Given the description of an element on the screen output the (x, y) to click on. 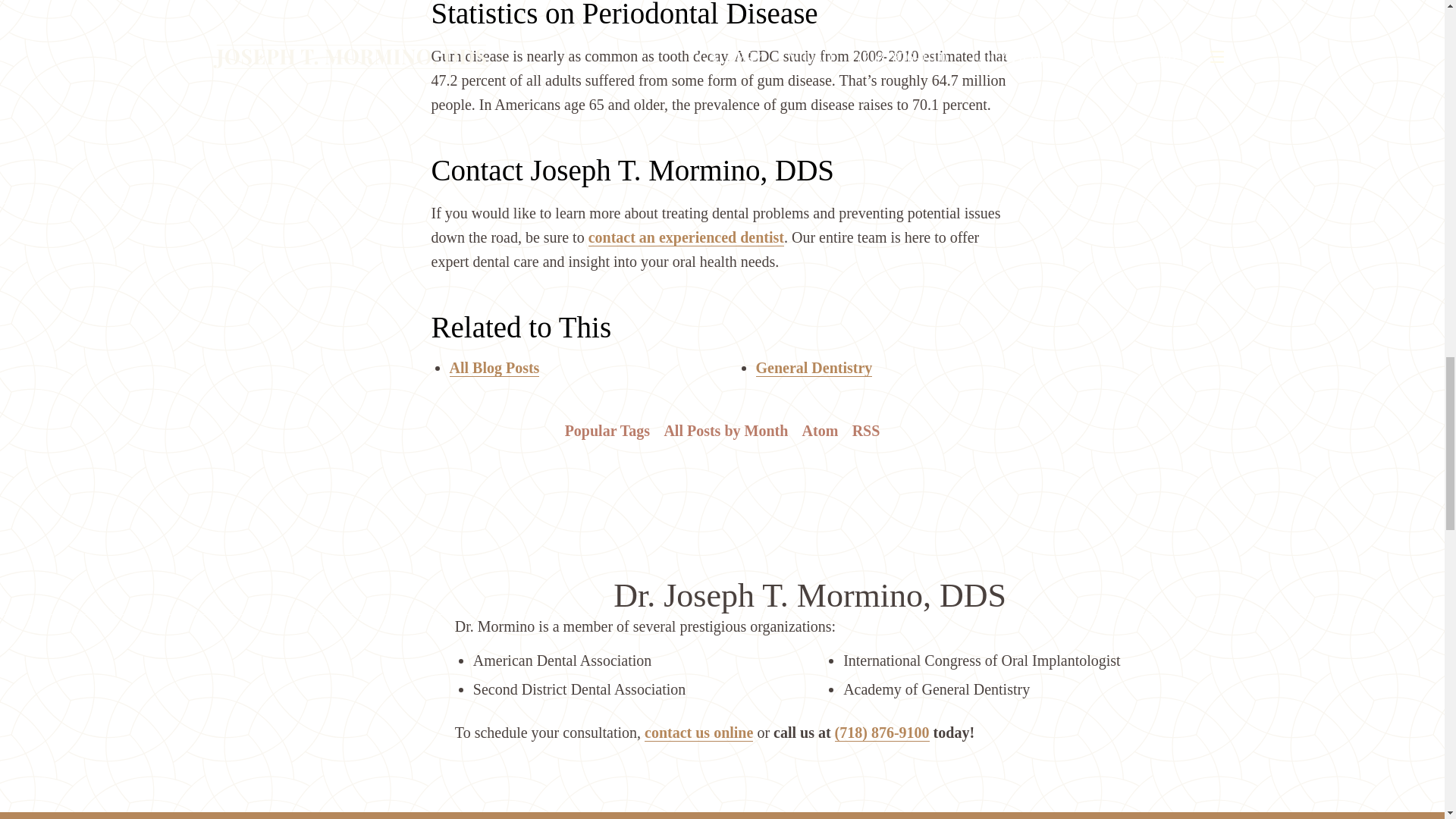
RSS (865, 430)
Atom (819, 430)
contact an experienced dentist (686, 237)
contact us online (698, 732)
Popular Tags (607, 430)
All Blog Posts (493, 367)
All Posts by Month (725, 430)
General Dentistry (813, 367)
